Given the description of an element on the screen output the (x, y) to click on. 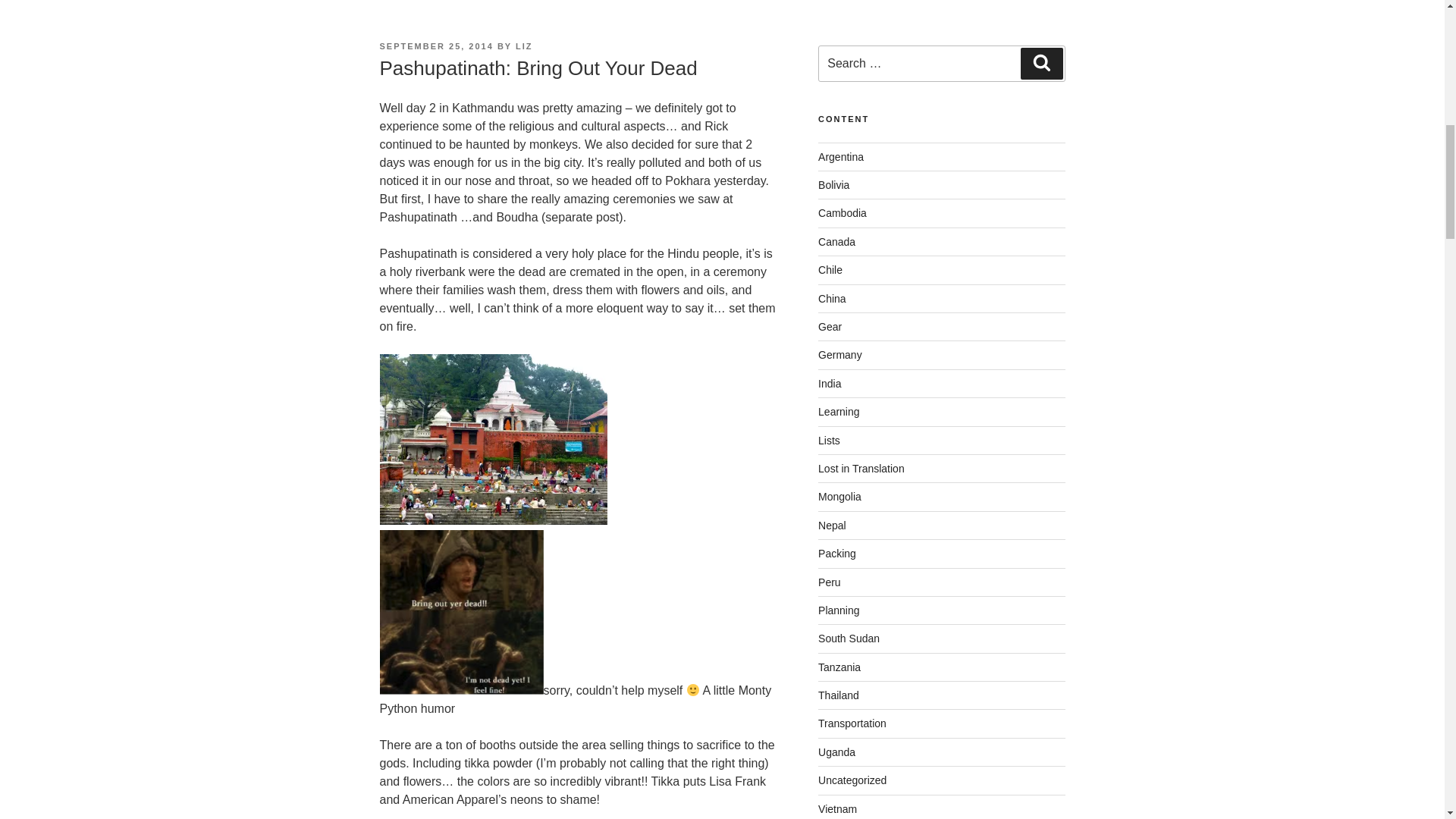
SEPTEMBER 25, 2014 (435, 45)
LIZ (523, 45)
